Given the description of an element on the screen output the (x, y) to click on. 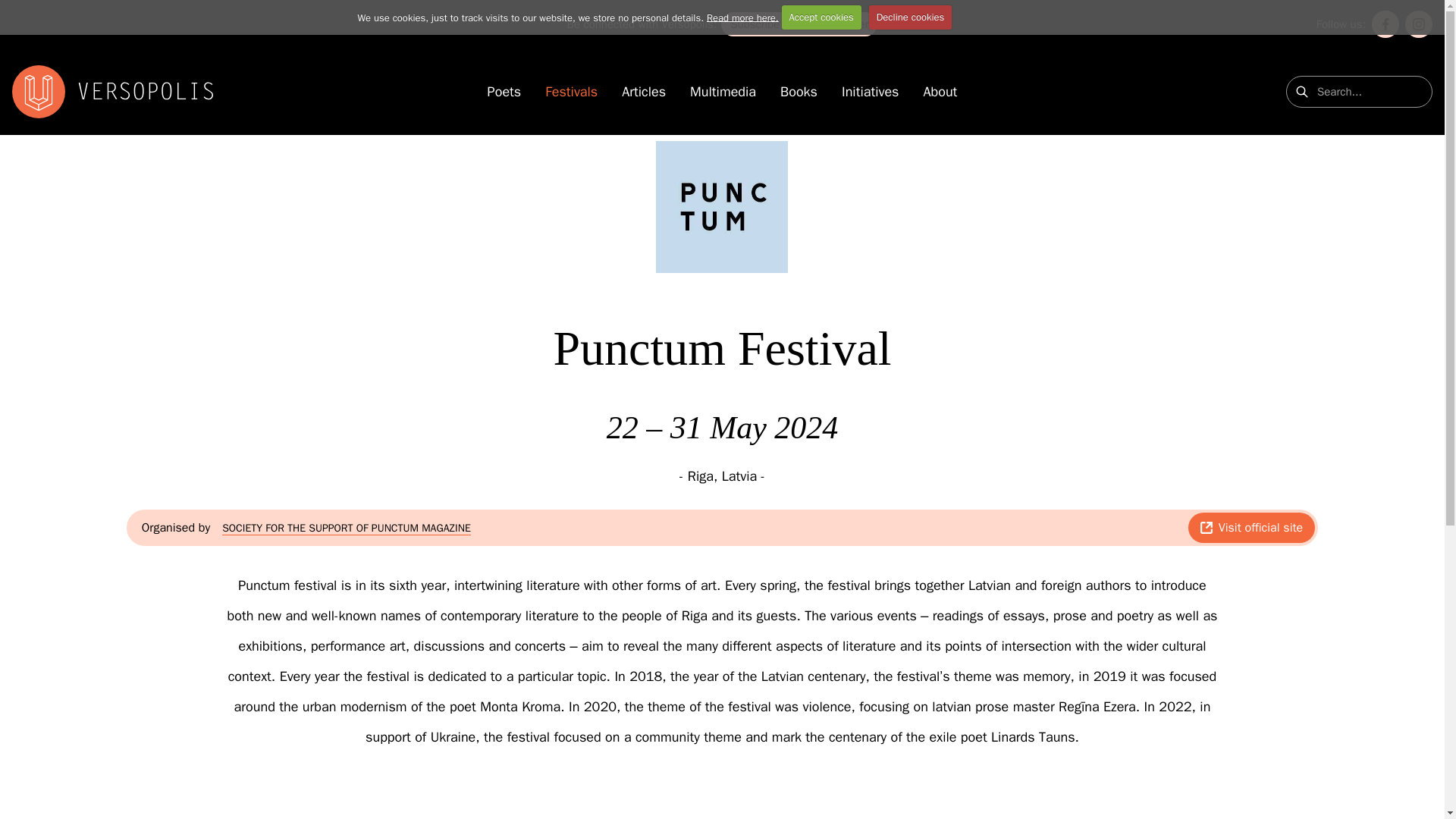
Festivals (570, 92)
About (939, 92)
Subscribe to the Newsletter (798, 24)
Multimedia (722, 92)
Read more here. (742, 16)
Poets (504, 92)
Initiatives (869, 92)
Accept cookies (821, 16)
Articles (643, 92)
Decline cookies (910, 16)
Books (798, 92)
